Given the description of an element on the screen output the (x, y) to click on. 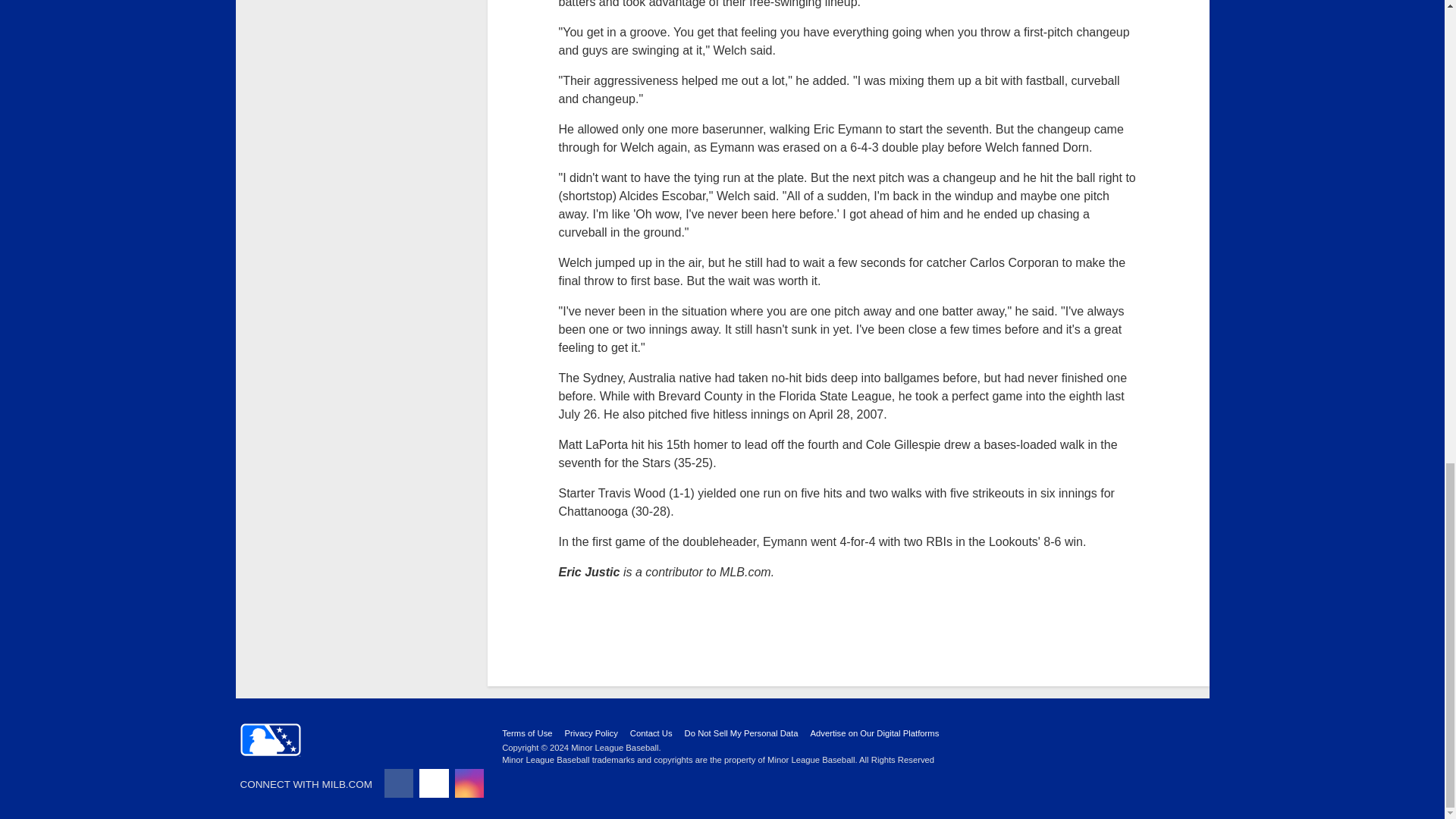
Contact Us (651, 732)
Privacy Policy (590, 732)
Terms of Use (526, 732)
